Given the description of an element on the screen output the (x, y) to click on. 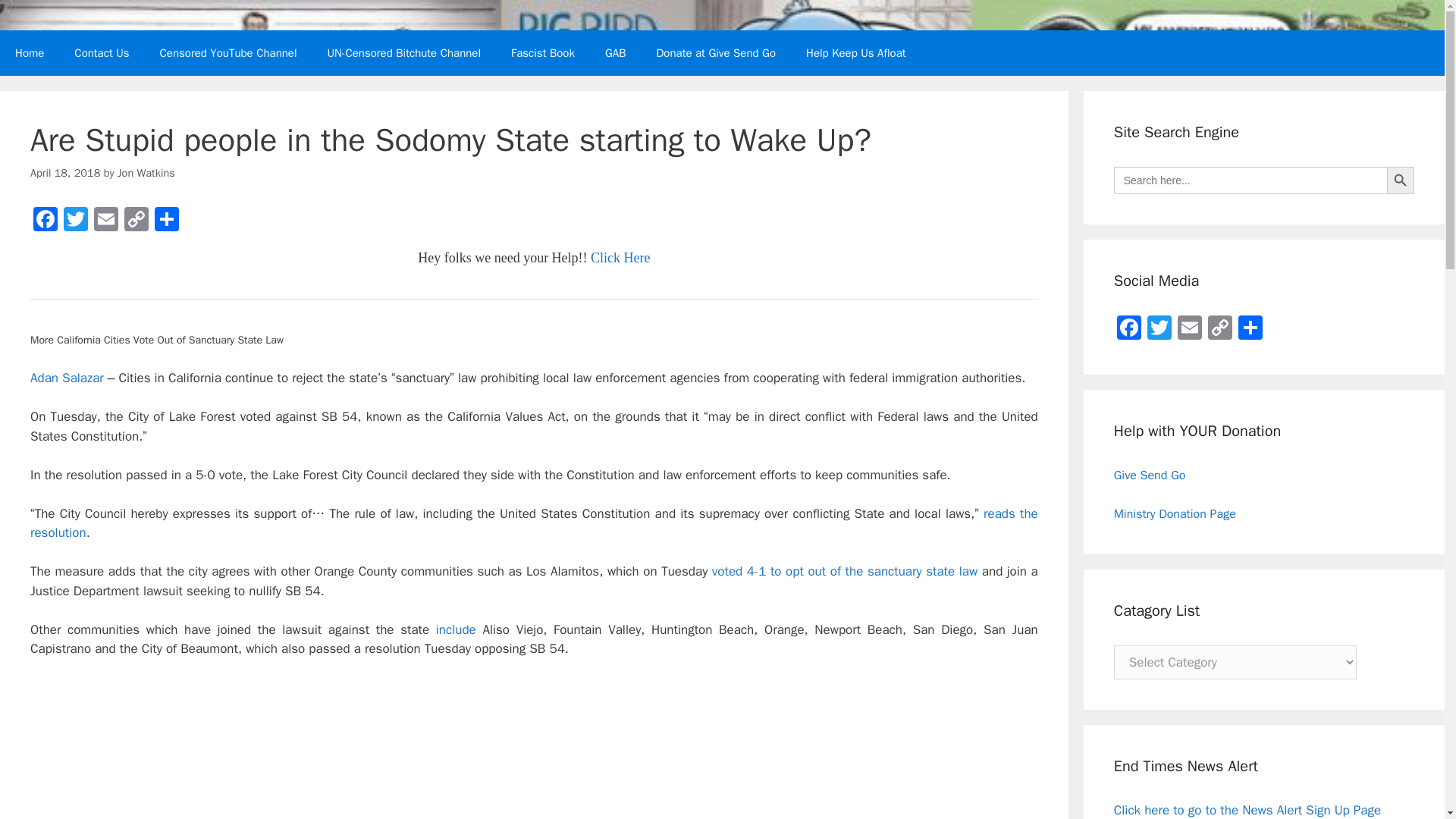
View all posts by Jon Watkins (145, 172)
Twitter (75, 221)
Facebook (45, 221)
Share (166, 221)
Help Keep Us Afloat (855, 53)
include (455, 629)
Home (29, 53)
Email (105, 221)
Click Here (620, 257)
Contact Us (101, 53)
Facebook (45, 221)
Twitter (75, 221)
Fascist Book (542, 53)
Censored YouTube Channel (228, 53)
